Given the description of an element on the screen output the (x, y) to click on. 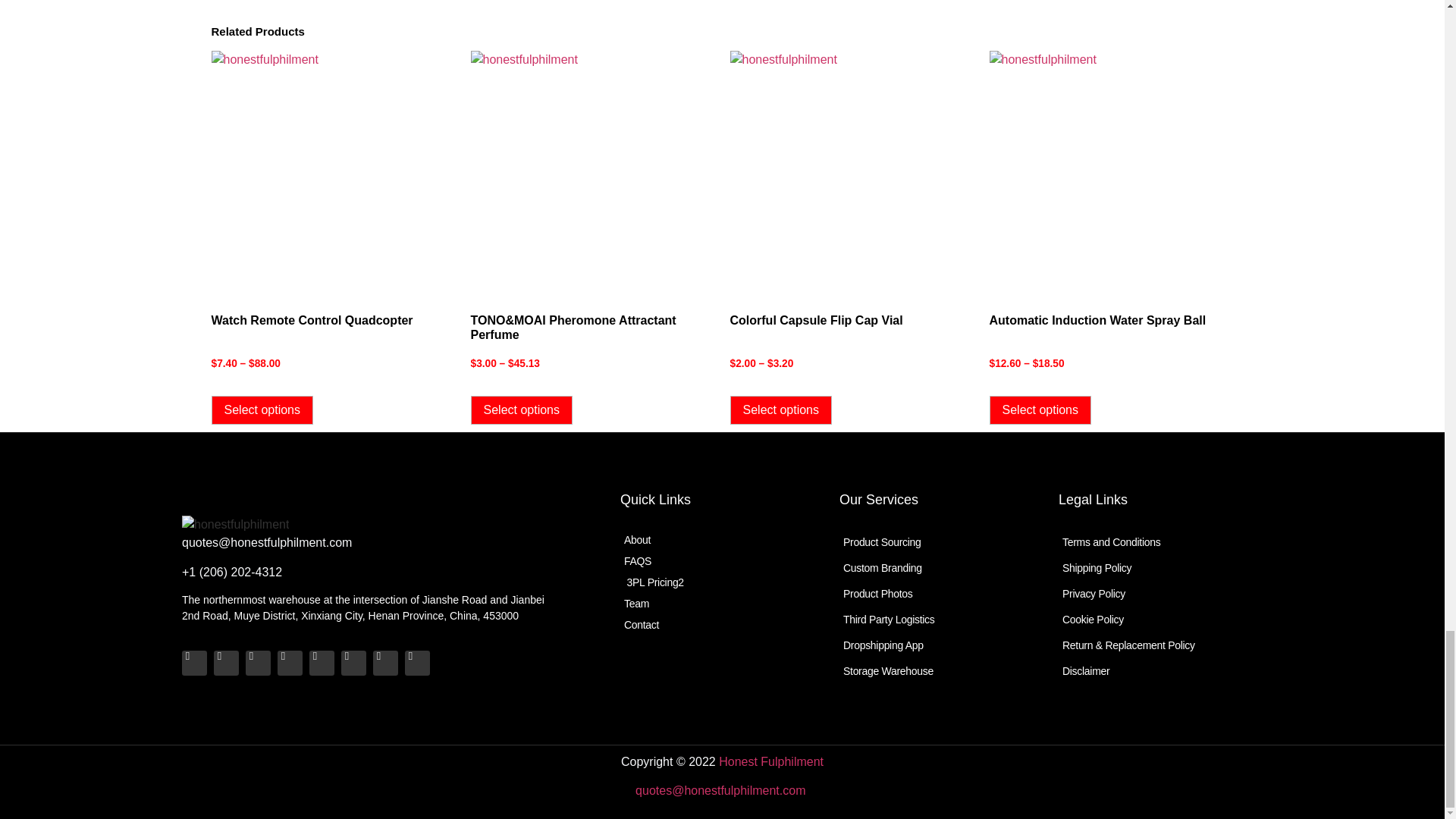
wight-banner.png (235, 524)
